Given the description of an element on the screen output the (x, y) to click on. 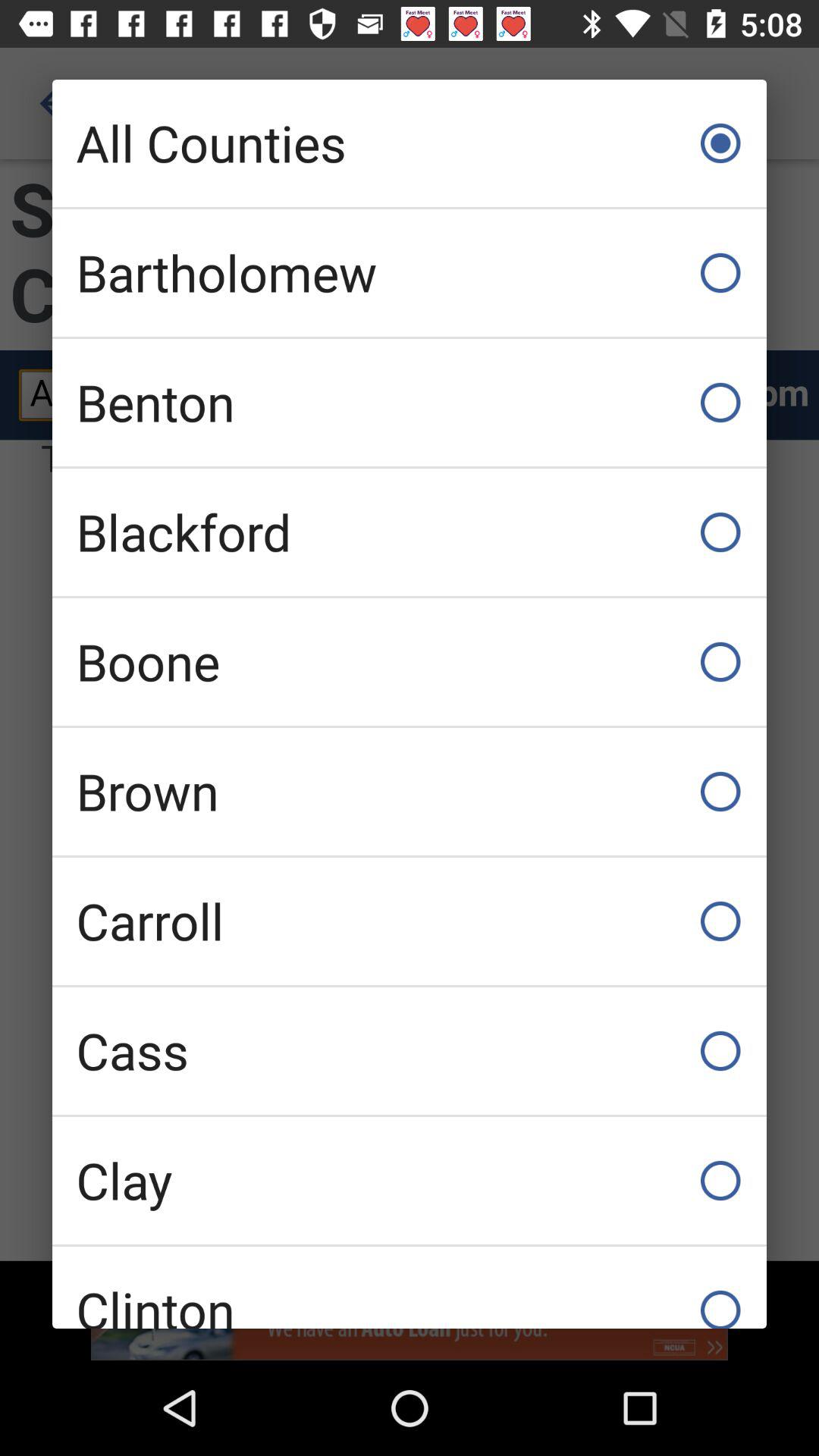
jump to all counties (409, 143)
